Given the description of an element on the screen output the (x, y) to click on. 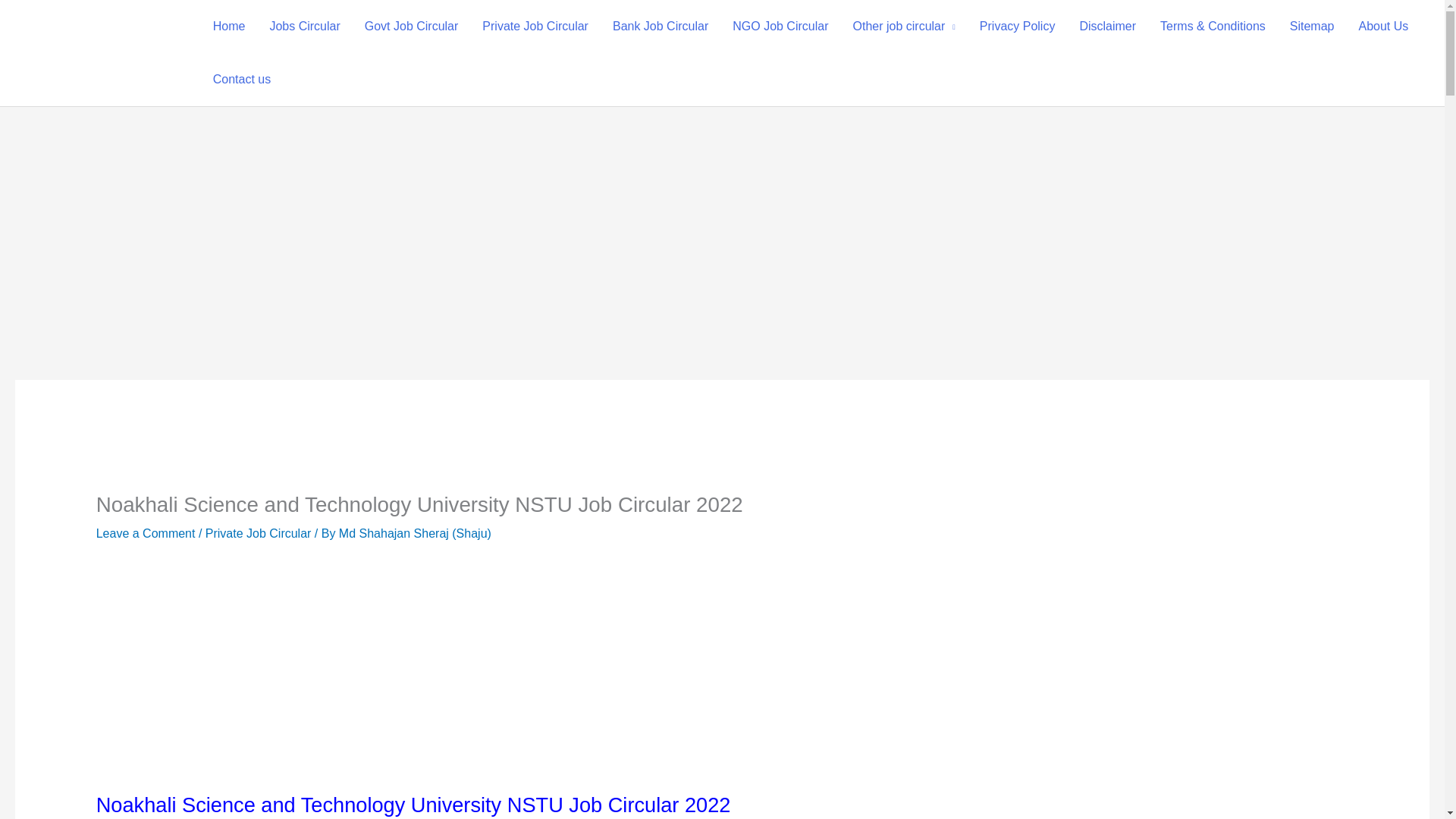
Govt Job Circular (411, 26)
Bank Job Circular (659, 26)
Advertisement (721, 679)
Leave a Comment (145, 533)
Disclaimer (1107, 26)
Contact us (241, 79)
Jobs Circular (304, 26)
Privacy Policy (1017, 26)
Sitemap (1312, 26)
About Us (1383, 26)
NGO Job Circular (780, 26)
Other job circular (903, 26)
Home (228, 26)
